Given the description of an element on the screen output the (x, y) to click on. 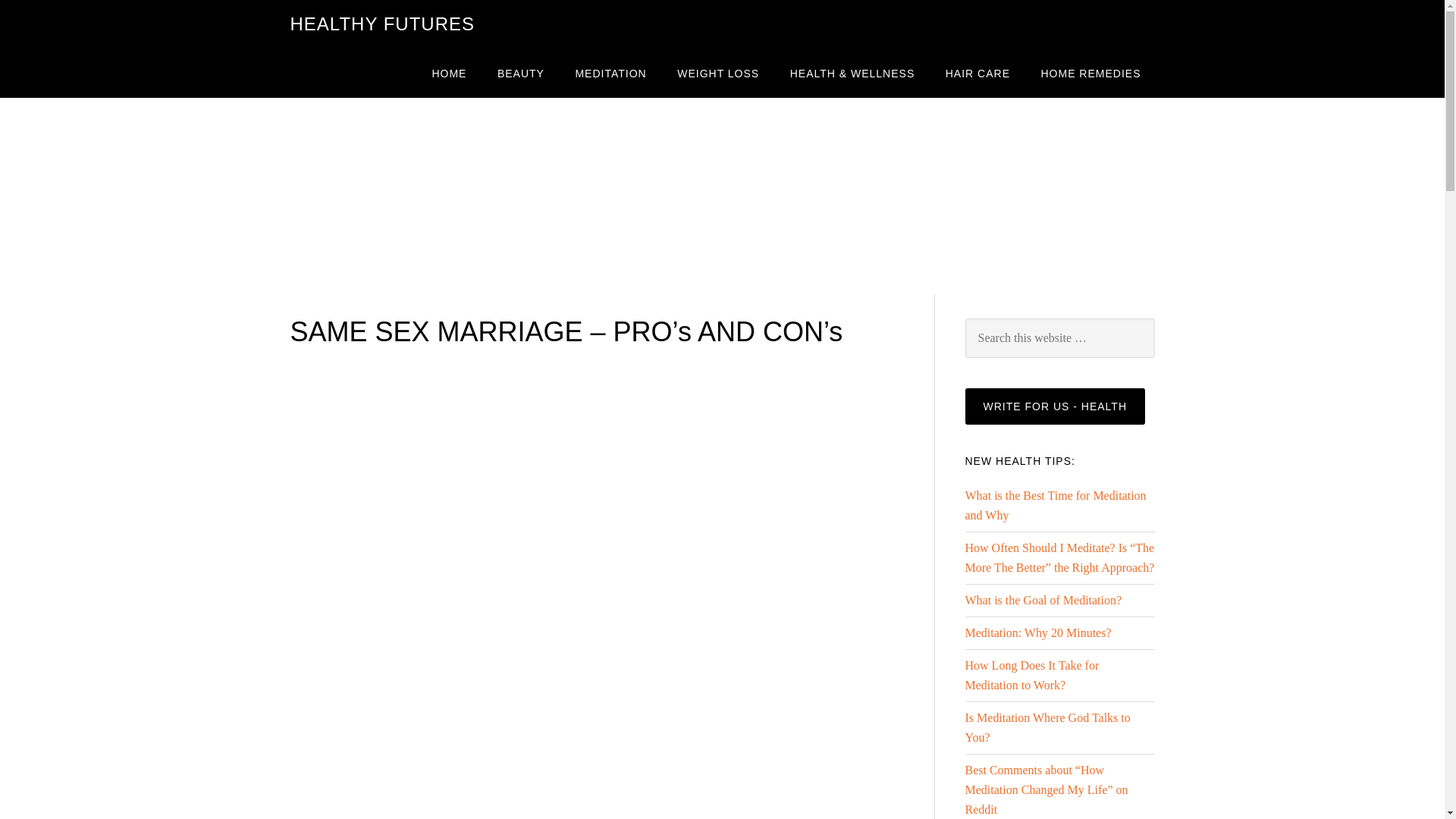
How Long Does It Take for Meditation to Work? (1031, 675)
Write for Us - Health (1053, 406)
Meditation: Why 20 Minutes? (1036, 632)
WEIGHT LOSS (718, 72)
Is Meditation Where God Talks to You? (1046, 727)
Advertisement (402, 711)
MEDITATION (609, 72)
HEALTHY FUTURES (381, 23)
BEAUTY (520, 72)
HOME (448, 72)
What is the Goal of Meditation? (1042, 599)
Write for Us - Health (1053, 406)
